Given the description of an element on the screen output the (x, y) to click on. 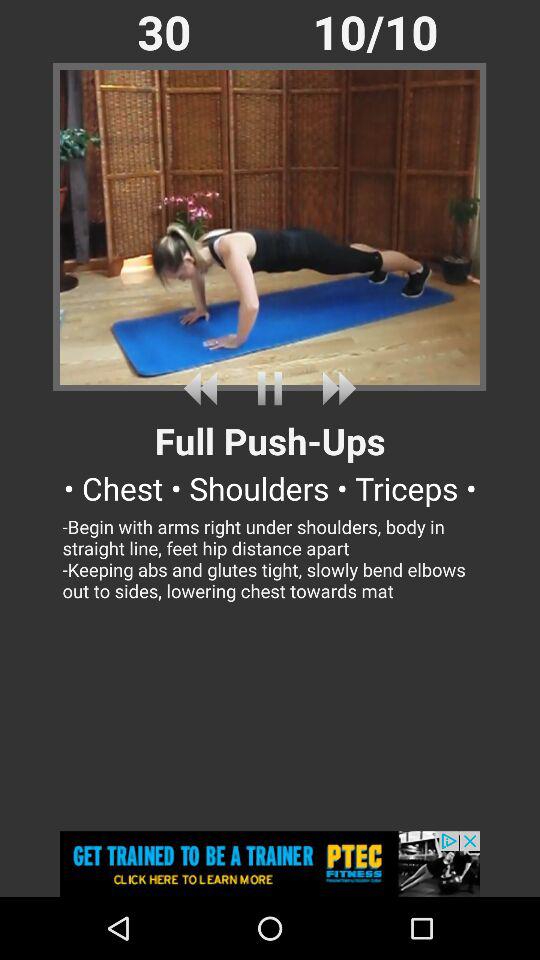
pause (269, 388)
